Given the description of an element on the screen output the (x, y) to click on. 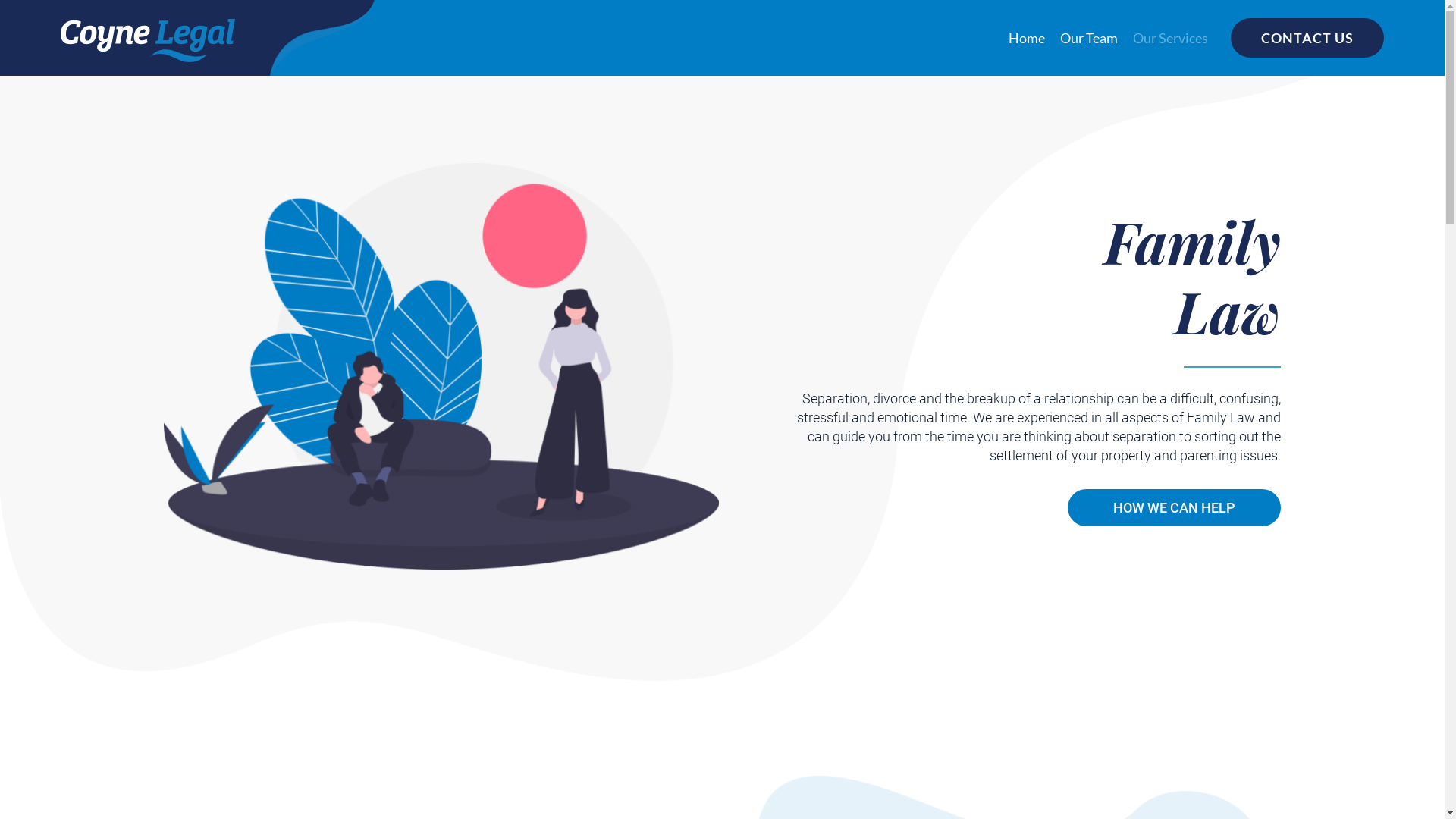
HOW WE CAN HELP Element type: text (1173, 507)
Our Team Element type: text (1088, 37)
Home Element type: text (1026, 37)
Our Services Element type: text (1170, 37)
CONTACT US Element type: text (1306, 37)
